Given the description of an element on the screen output the (x, y) to click on. 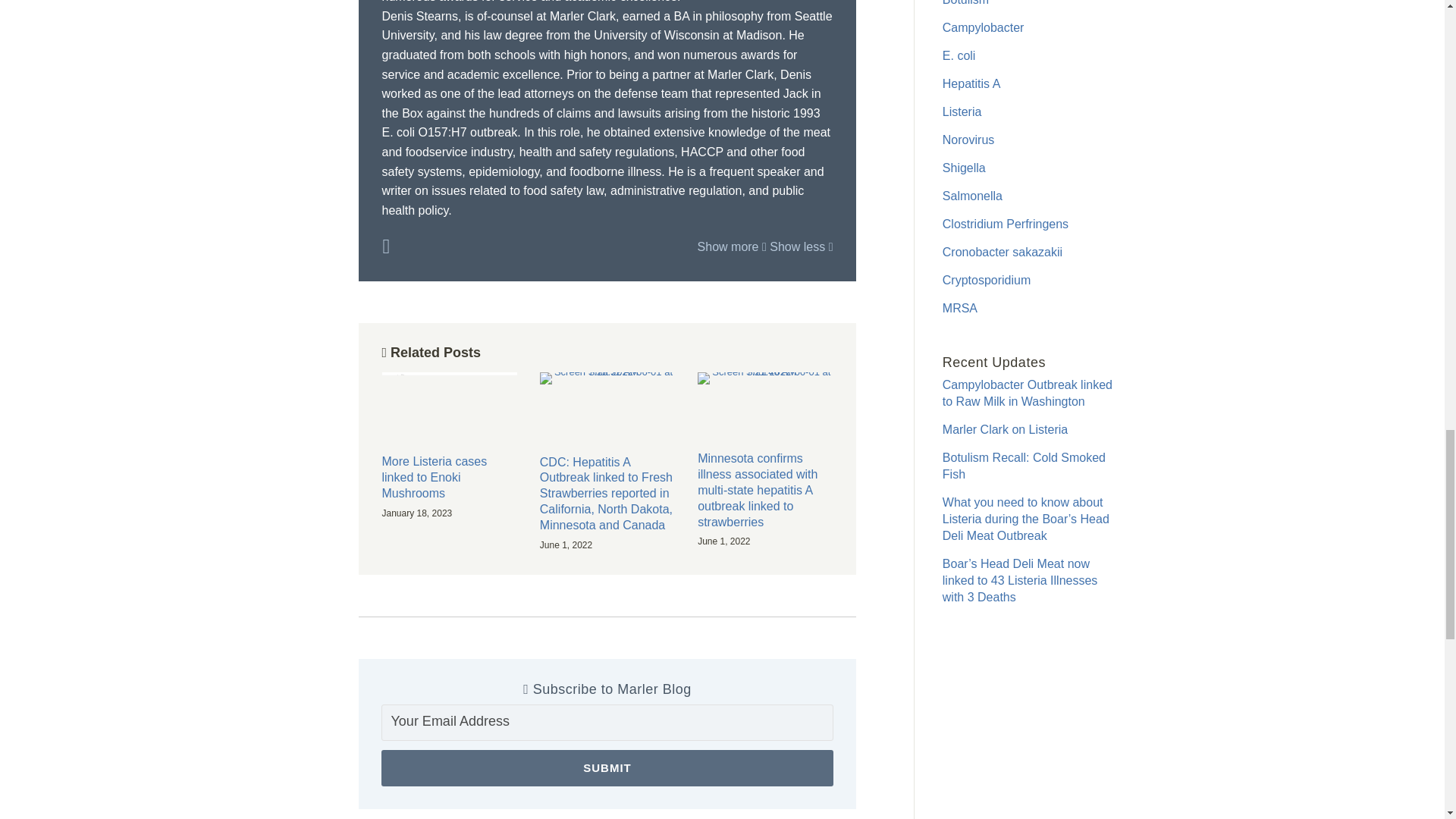
Show less (801, 246)
Show more (732, 246)
Submit (606, 768)
More Listeria cases linked to Enoki Mushrooms (448, 477)
Submit (606, 768)
